Given the description of an element on the screen output the (x, y) to click on. 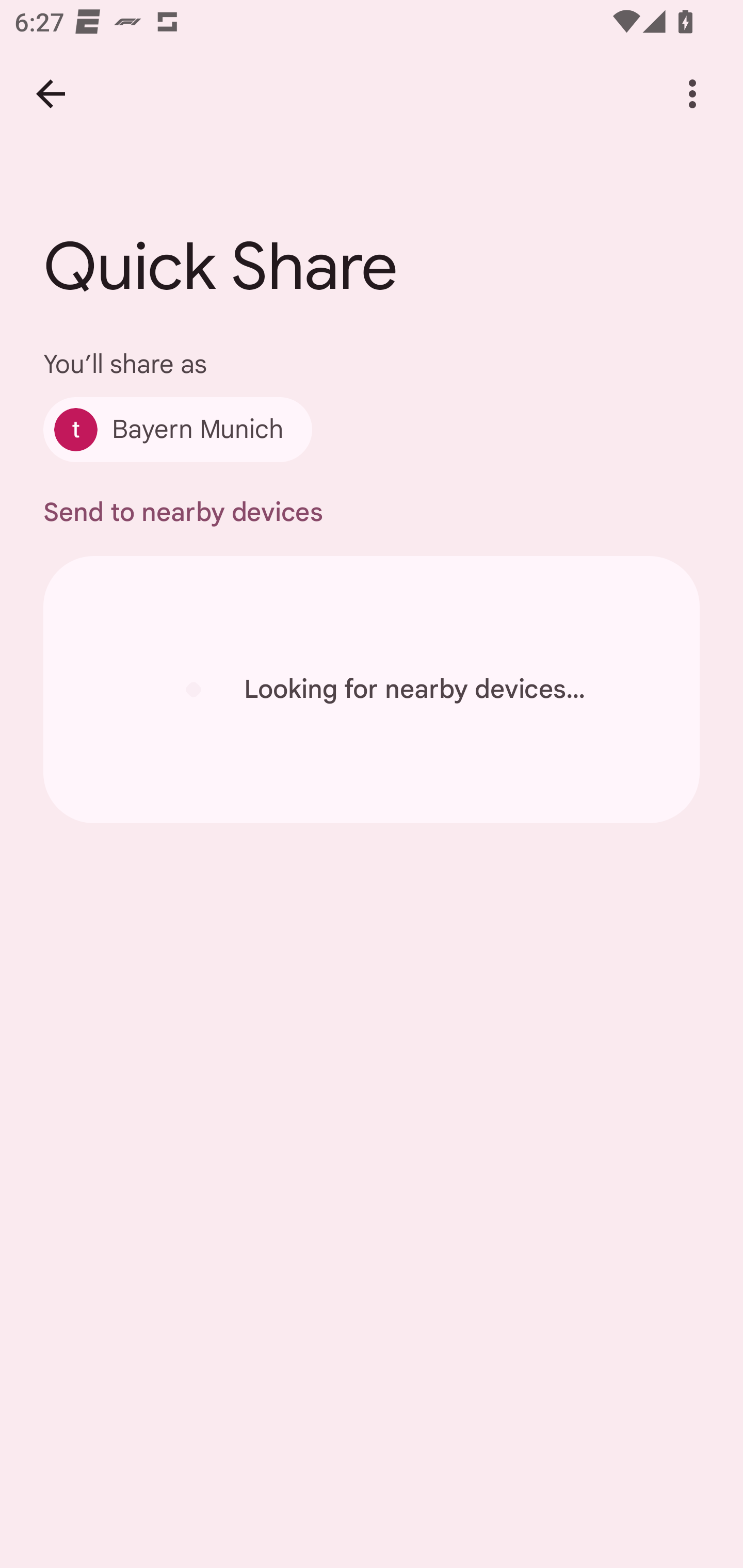
Back (50, 93)
More (692, 93)
Bayern Munich (177, 429)
